Given the description of an element on the screen output the (x, y) to click on. 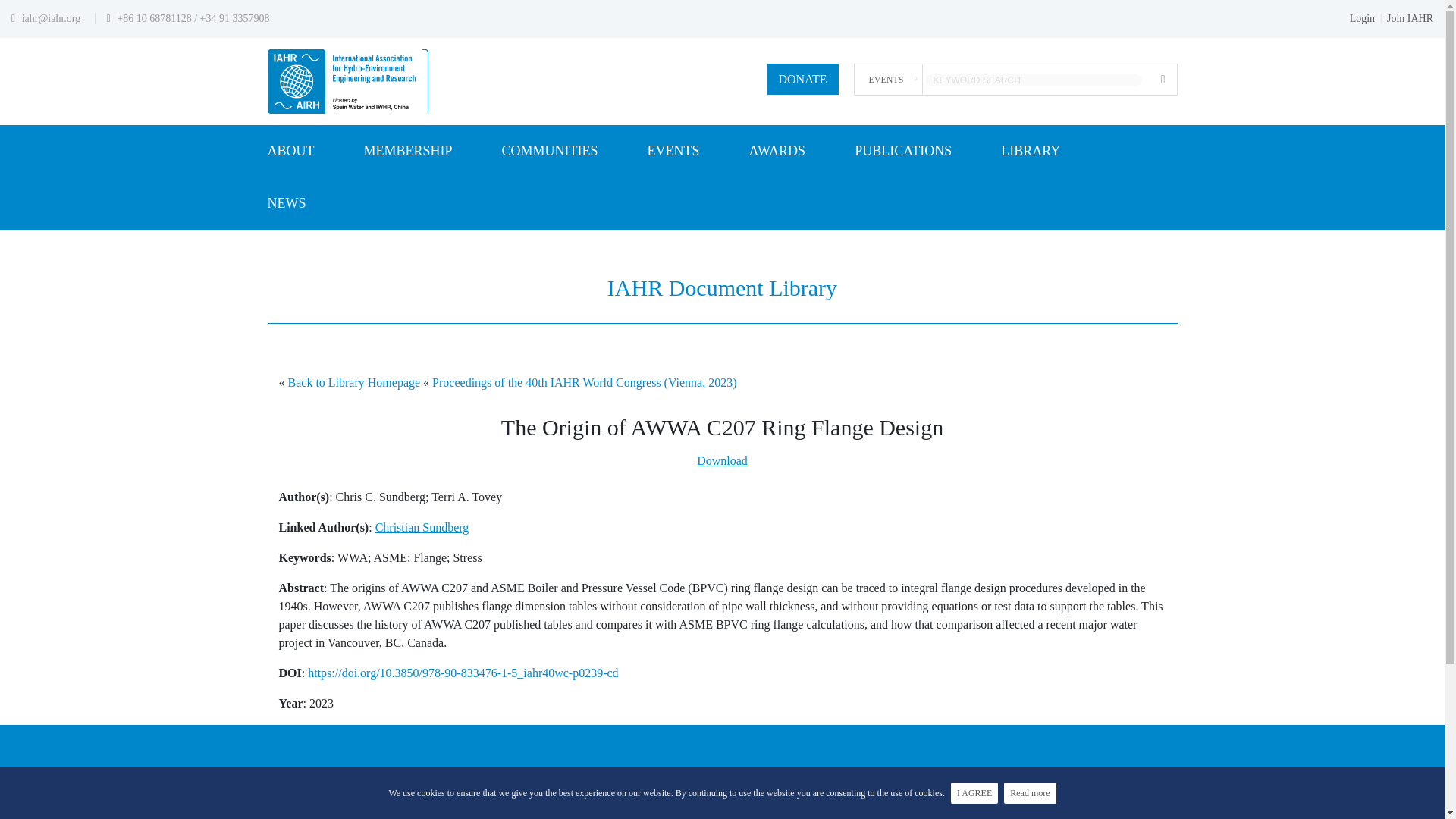
COMMUNITIES (550, 151)
EVENTS (673, 151)
Login (1361, 18)
MEMBERSHIP (408, 151)
ABOUT (290, 151)
AWARDS (777, 151)
Join IAHR (1409, 18)
DONATE (802, 79)
PUBLICATIONS (903, 151)
